Given the description of an element on the screen output the (x, y) to click on. 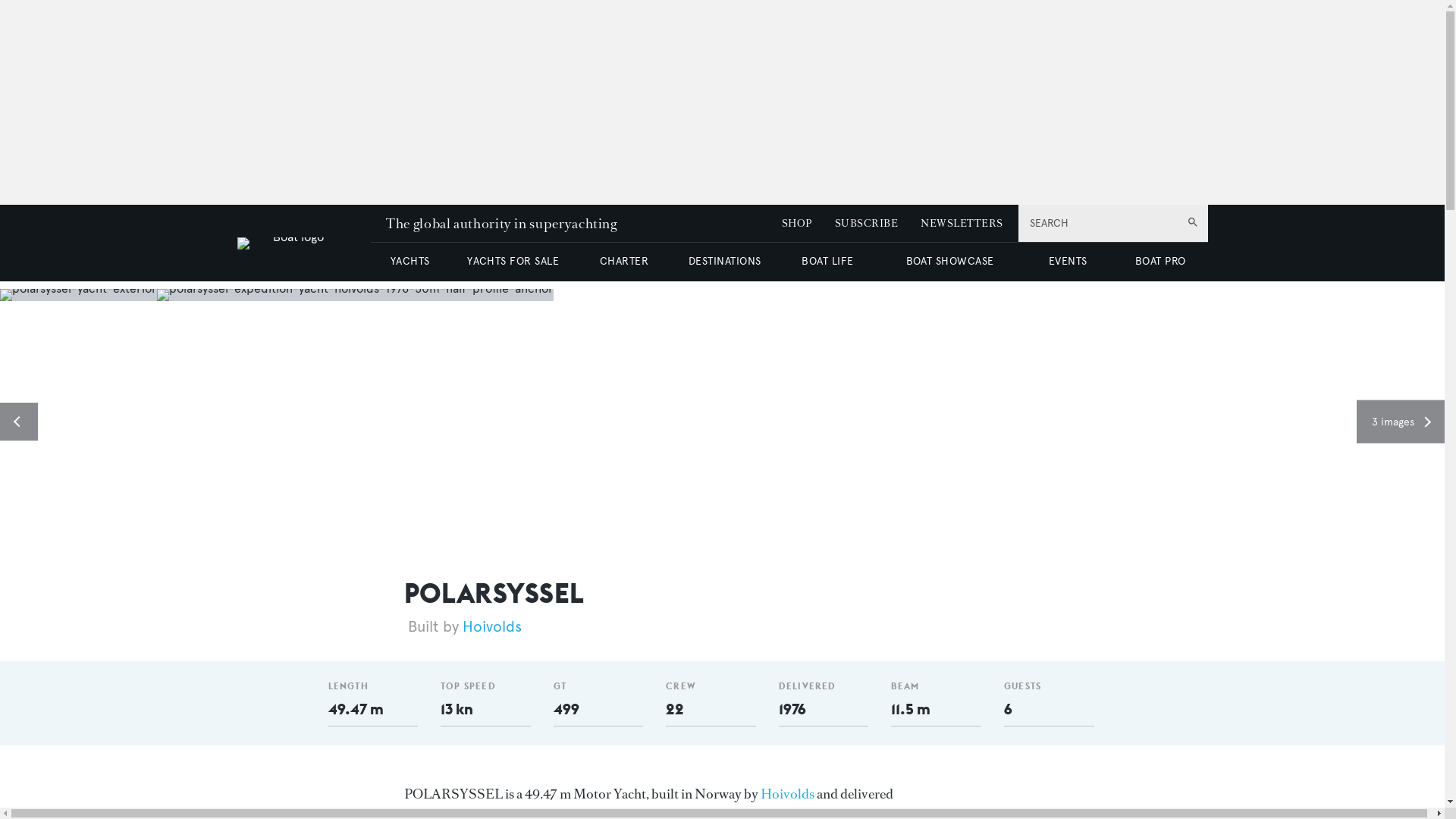
YACHTS (410, 261)
SHOP (796, 223)
DESTINATIONS (724, 261)
CHARTER (623, 261)
YACHTS FOR SALE (512, 261)
NEWSLETTERS (961, 223)
SUBSCRIBE (866, 223)
